Given the description of an element on the screen output the (x, y) to click on. 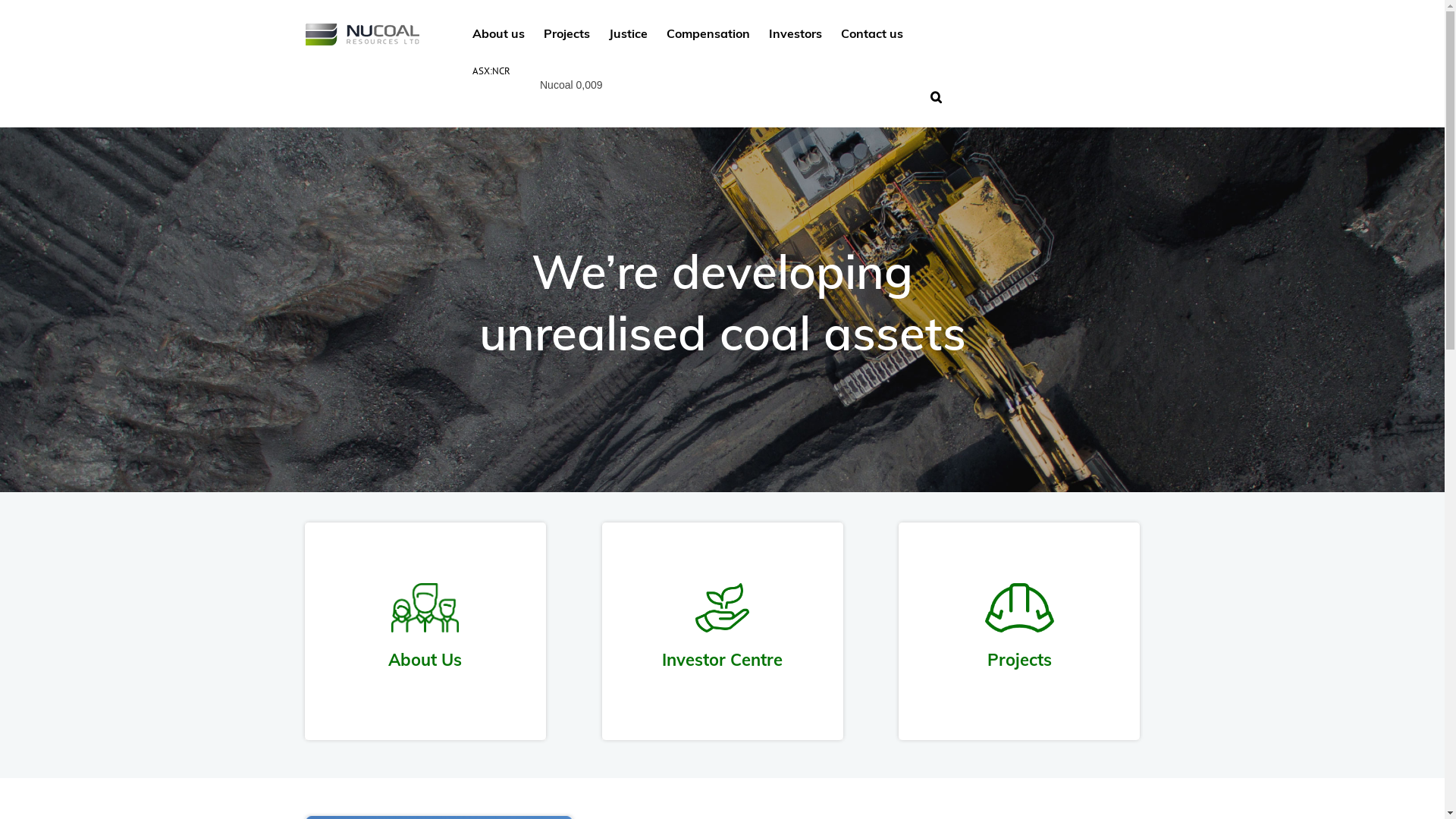
team-green-icon Element type: hover (424, 607)
Hardhat-icon-green Element type: hover (1019, 607)
About us Element type: text (497, 31)
Contact us Element type: text (871, 31)
Projects Element type: text (565, 31)
Search Element type: hover (935, 95)
and-plant-icon-green Element type: hover (722, 607)
Investors Element type: text (795, 31)
Justice Element type: text (627, 31)
Compensation Element type: text (707, 31)
